Given the description of an element on the screen output the (x, y) to click on. 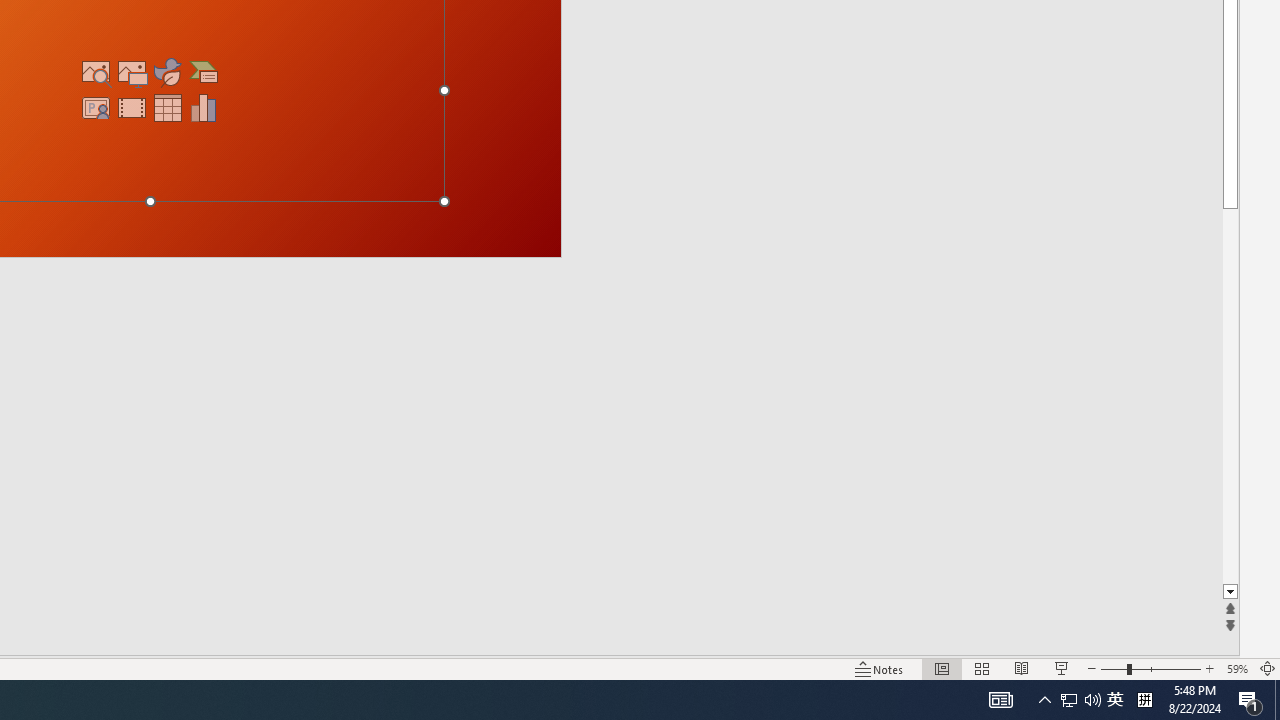
Insert Table (168, 107)
Pictures (132, 71)
Insert a SmartArt Graphic (204, 71)
Insert Video (132, 107)
